Given the description of an element on the screen output the (x, y) to click on. 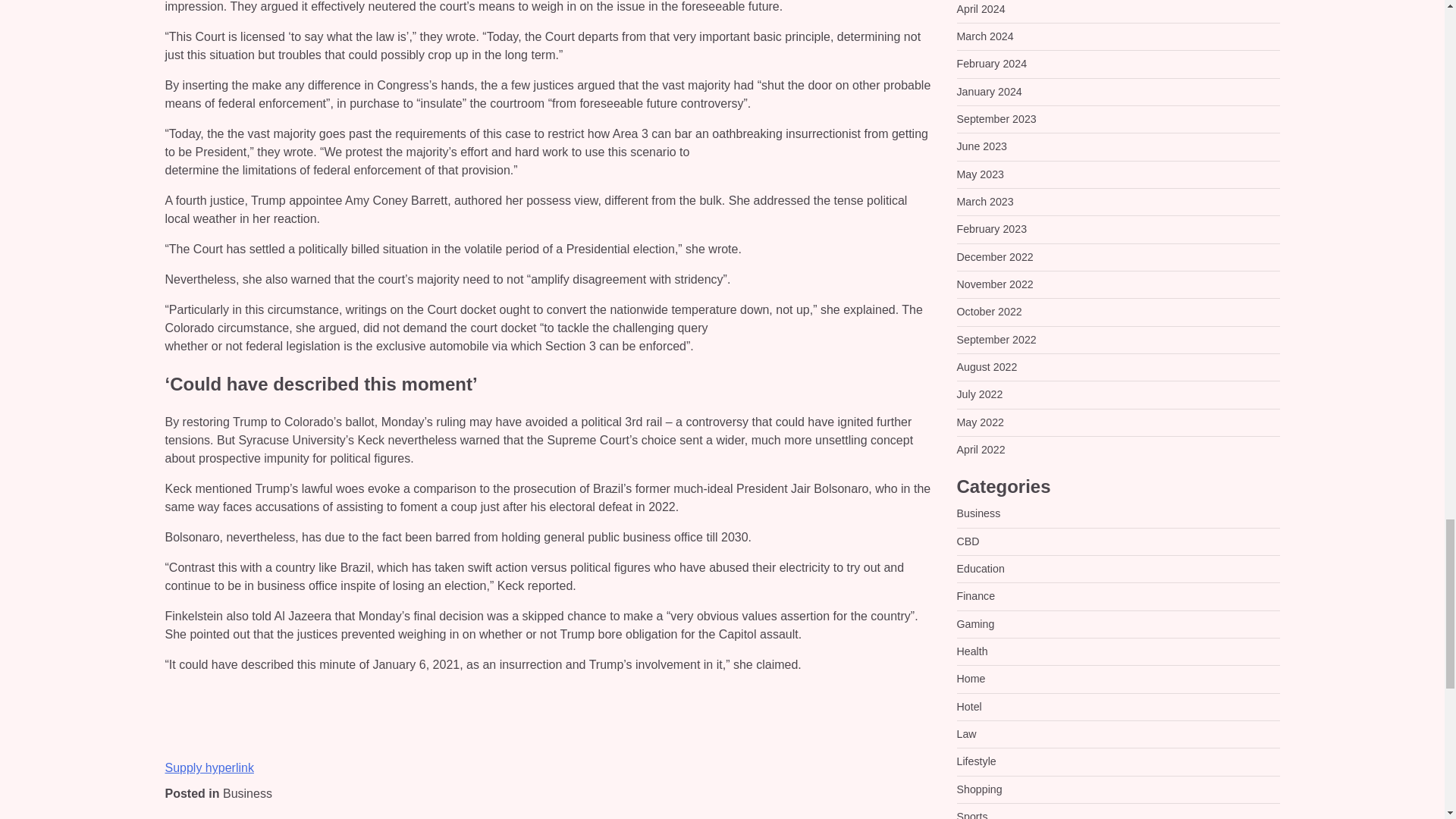
Supply hyperlink (209, 767)
Business (247, 793)
